Given the description of an element on the screen output the (x, y) to click on. 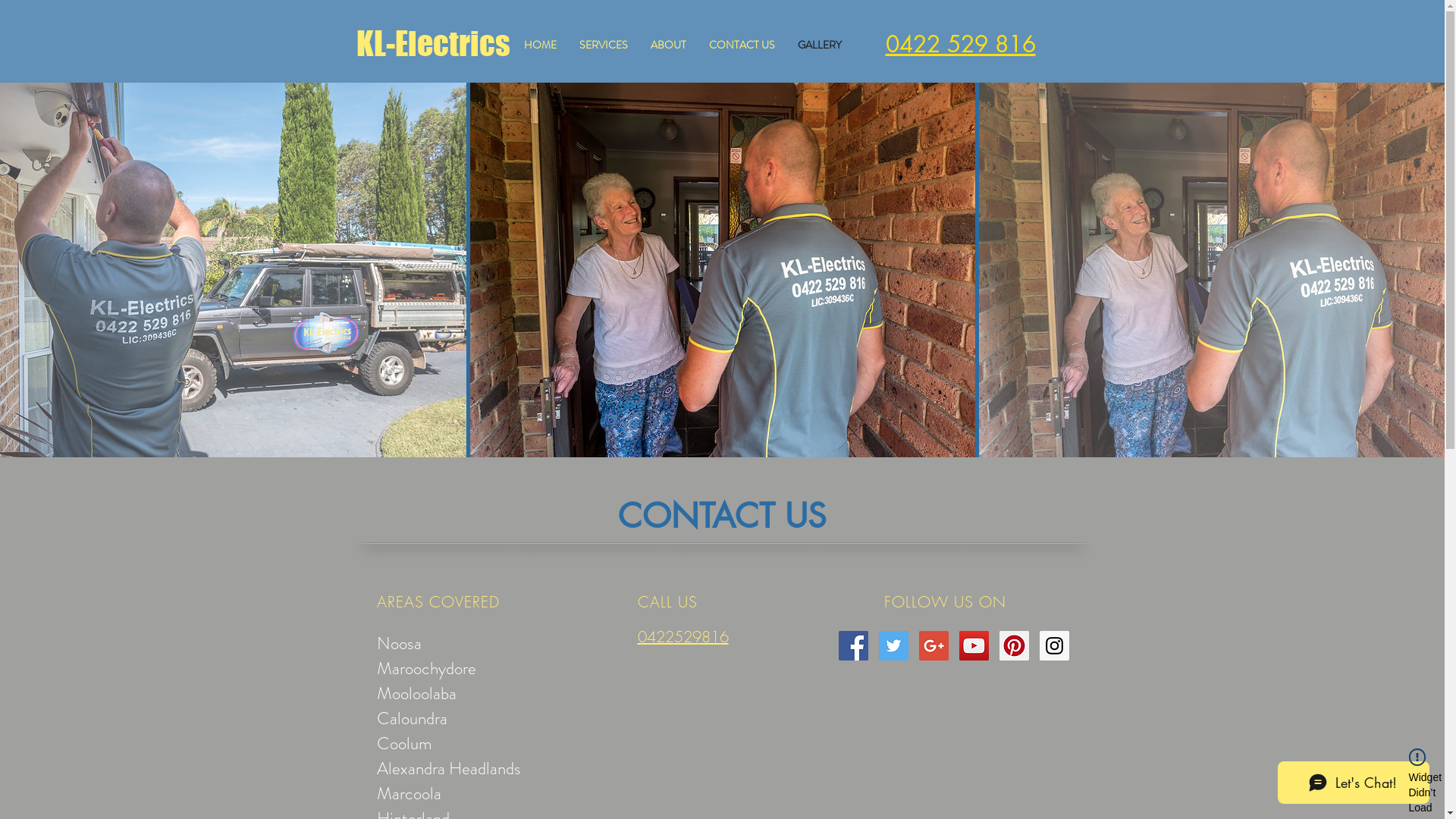
KL-Electrics Element type: text (433, 43)
ABOUT Element type: text (667, 44)
CONTACT US Element type: text (741, 44)
HOME Element type: text (539, 44)
GALLERY Element type: text (818, 44)
Coolum Element type: text (403, 743)
Caloundra Element type: text (411, 718)
0422 529 816 Element type: text (960, 43)
Maroochydore Element type: text (425, 667)
0422529816 Element type: text (682, 637)
Mooloolaba Element type: text (415, 693)
SERVICES Element type: text (602, 44)
Marcoola Element type: text (408, 793)
